Given the description of an element on the screen output the (x, y) to click on. 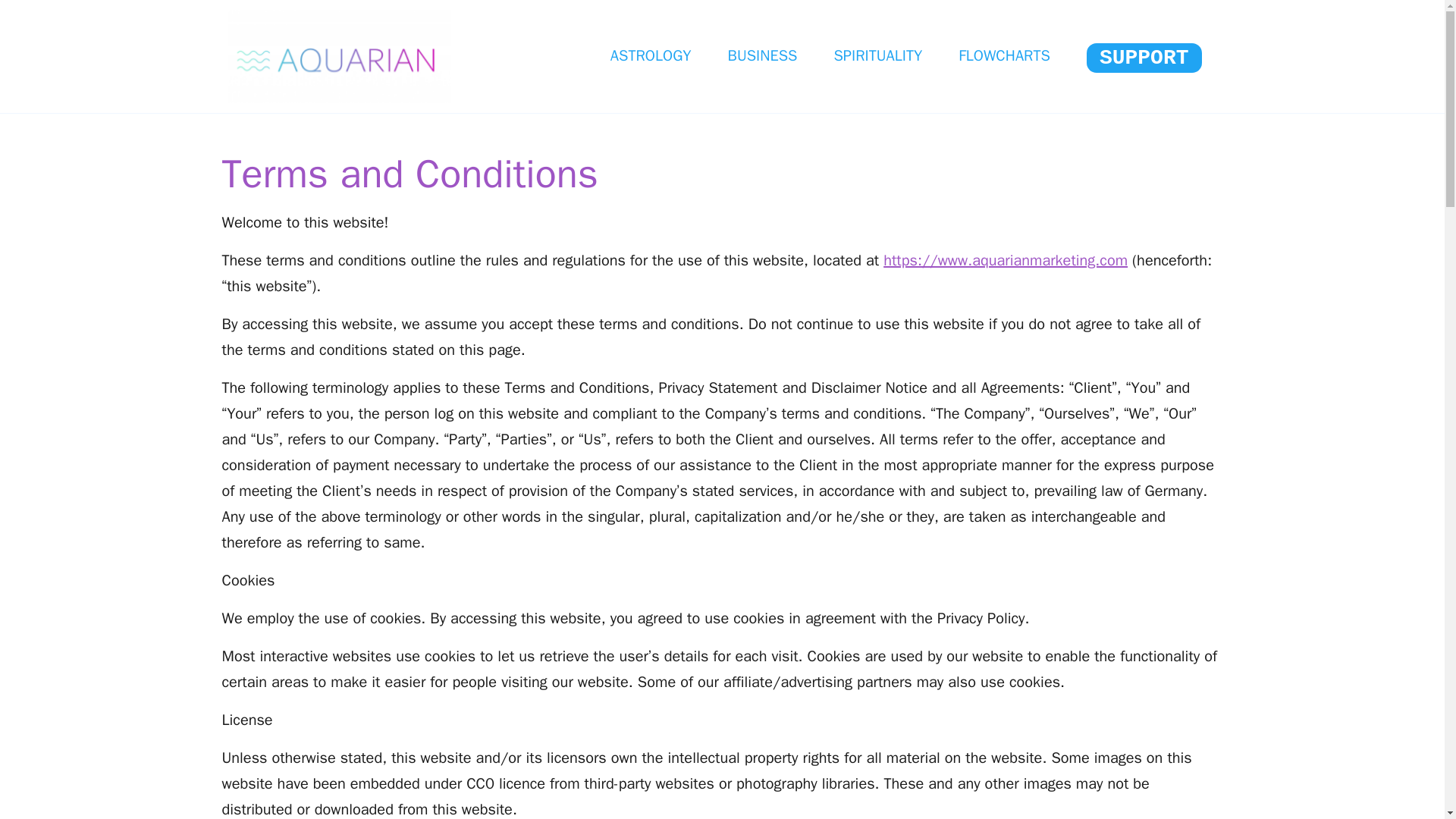
FLOWCHARTS (1003, 55)
ASTROLOGY (650, 55)
SPIRITUALITY (876, 55)
SUPPORT (1144, 58)
BUSINESS (762, 55)
